Given the description of an element on the screen output the (x, y) to click on. 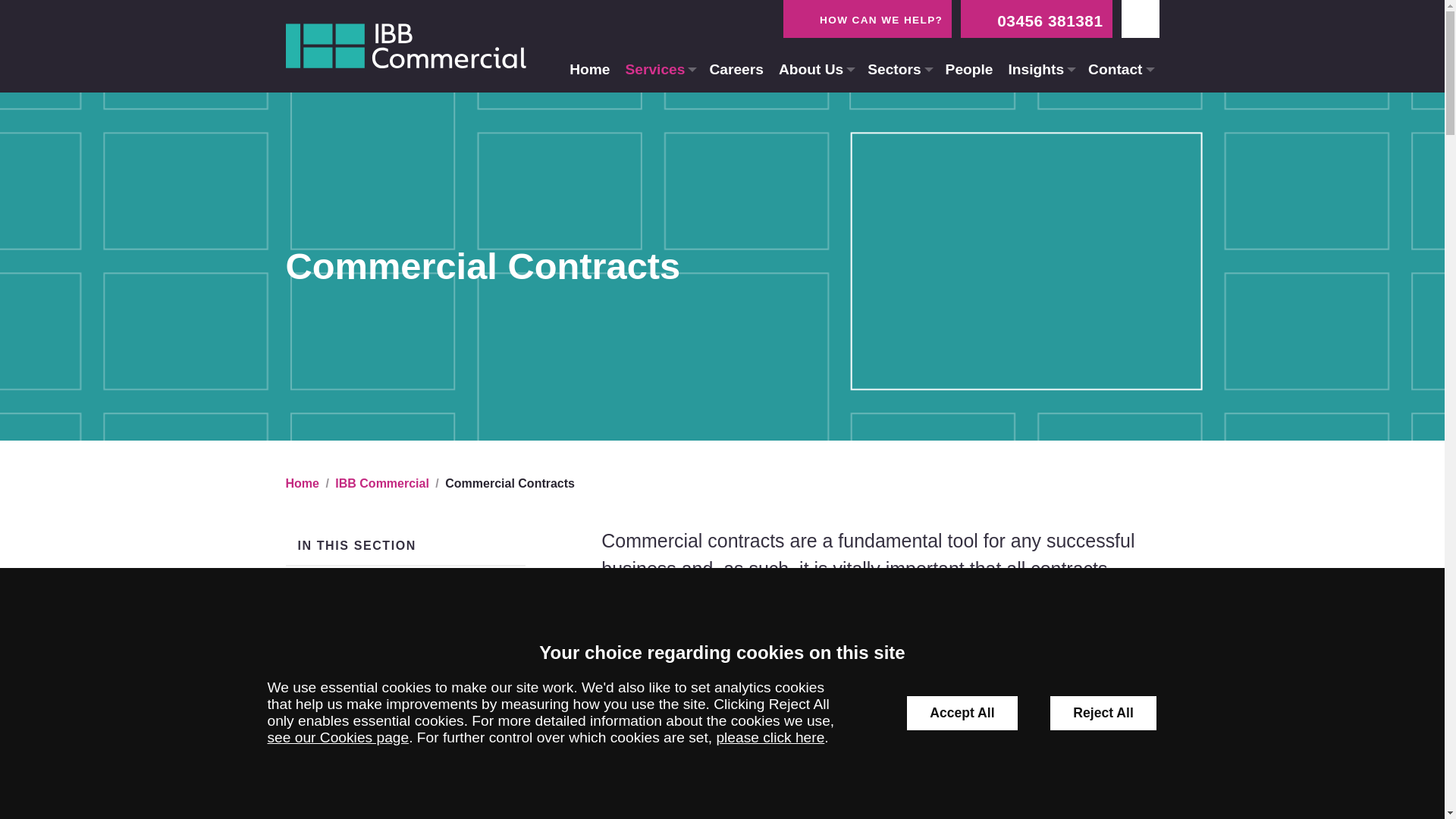
Services (659, 69)
03456 381381 (1036, 18)
Search (1049, 46)
HOW CAN WE HELP? (867, 18)
TOGGLE SEARCH (1139, 18)
Search the site (640, 46)
Home (589, 69)
